Given the description of an element on the screen output the (x, y) to click on. 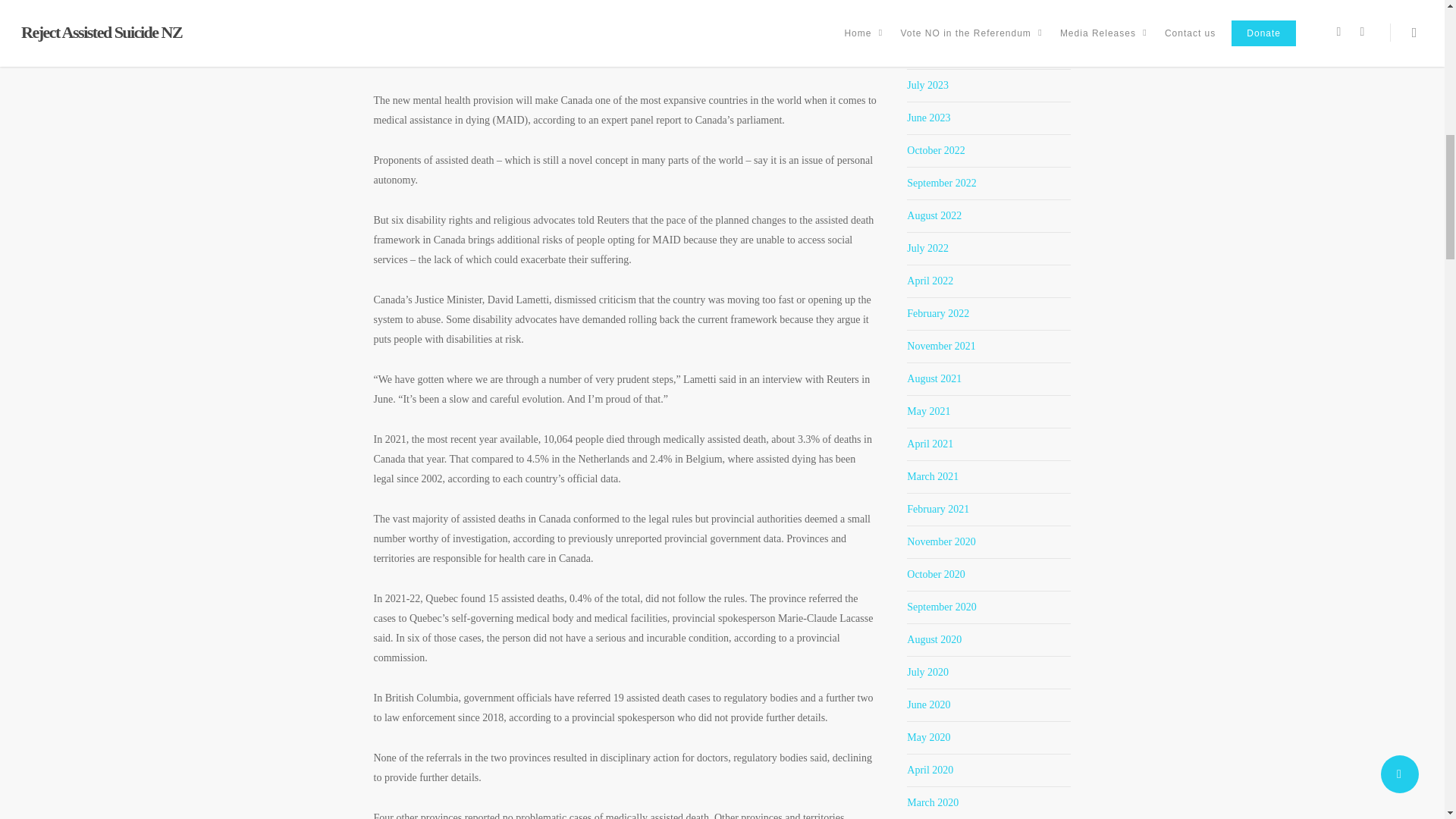
June 2023 (928, 117)
October 2022 (936, 150)
July 2023 (928, 84)
October 2023 (936, 19)
September 2022 (941, 183)
August 2023 (933, 52)
